Given the description of an element on the screen output the (x, y) to click on. 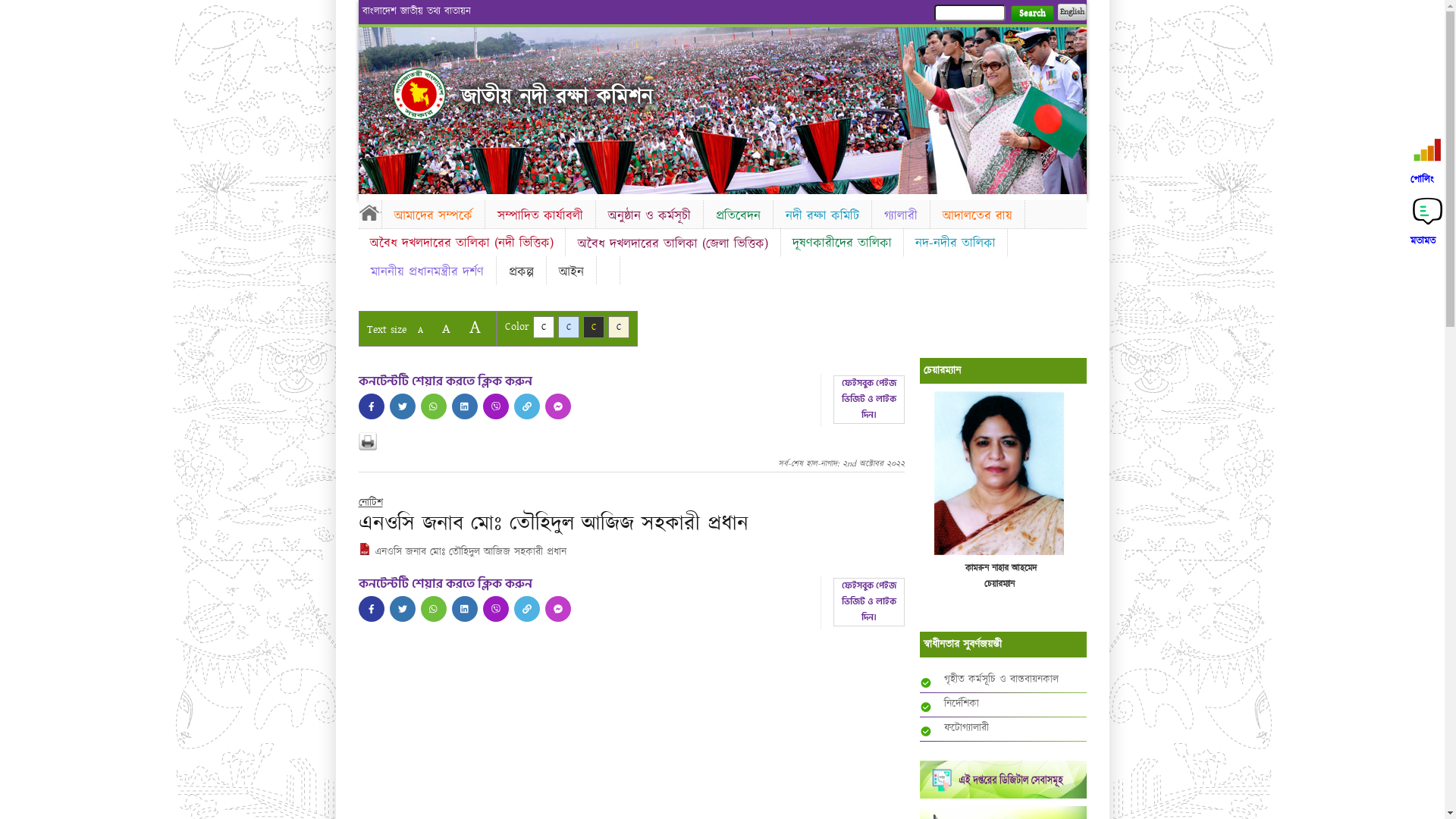
Home Element type: hover (418, 93)
C Element type: text (542, 327)
A Element type: text (419, 330)
English Element type: text (1071, 11)
C Element type: text (618, 327)
Search Element type: text (1031, 13)
A Element type: text (445, 328)
A Element type: text (474, 327)
Home Element type: hover (368, 211)
C Element type: text (592, 327)
C Element type: text (568, 327)
